Given the description of an element on the screen output the (x, y) to click on. 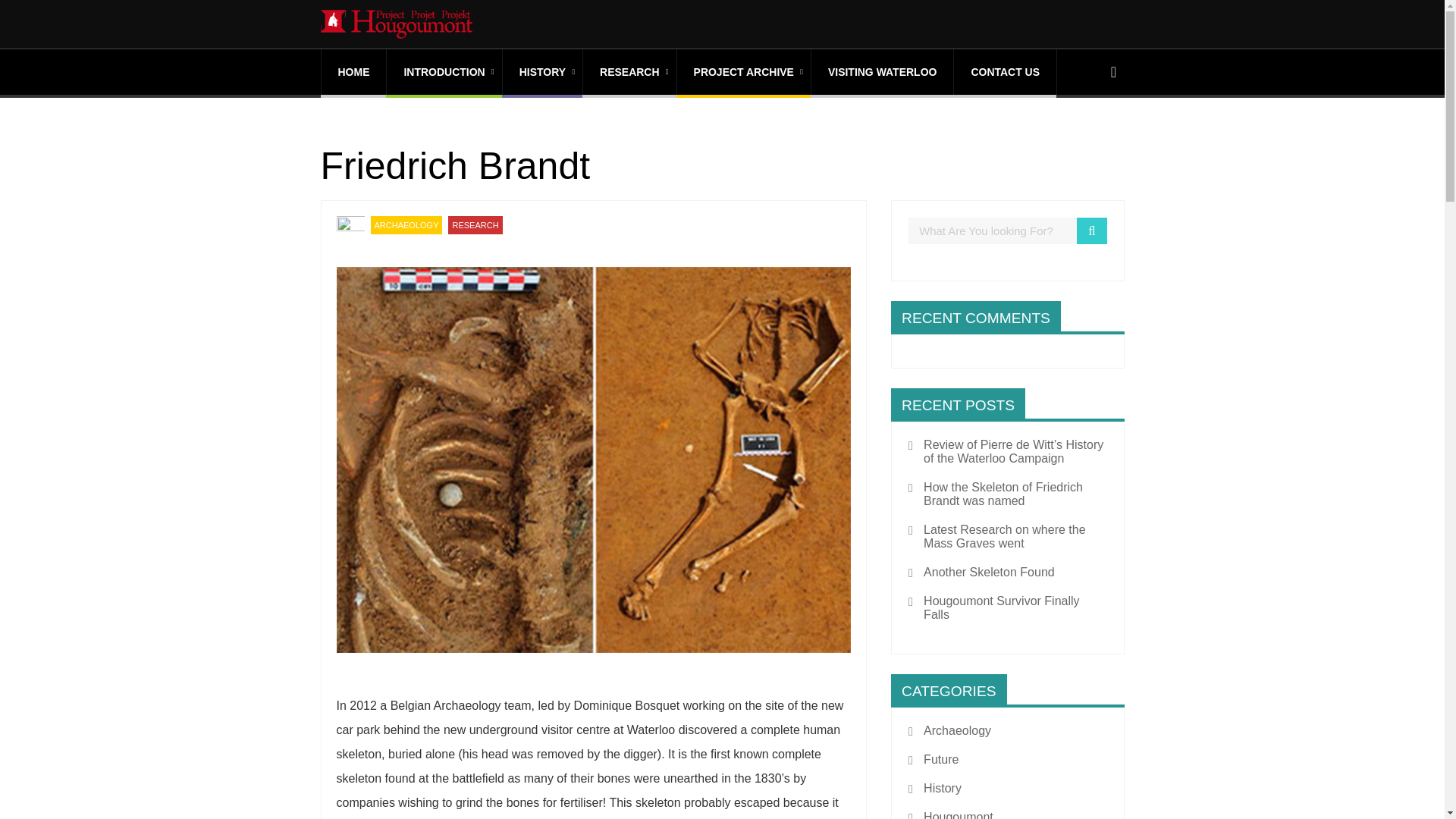
INTRODUCTION (443, 72)
HISTORY (542, 72)
VISITING WATERLOO (881, 72)
RESEARCH (474, 225)
CONTACT US (1005, 72)
ARCHAEOLOGY (406, 225)
RESEARCH (629, 72)
PROJECT ARCHIVE (743, 72)
HOME (354, 72)
